Given the description of an element on the screen output the (x, y) to click on. 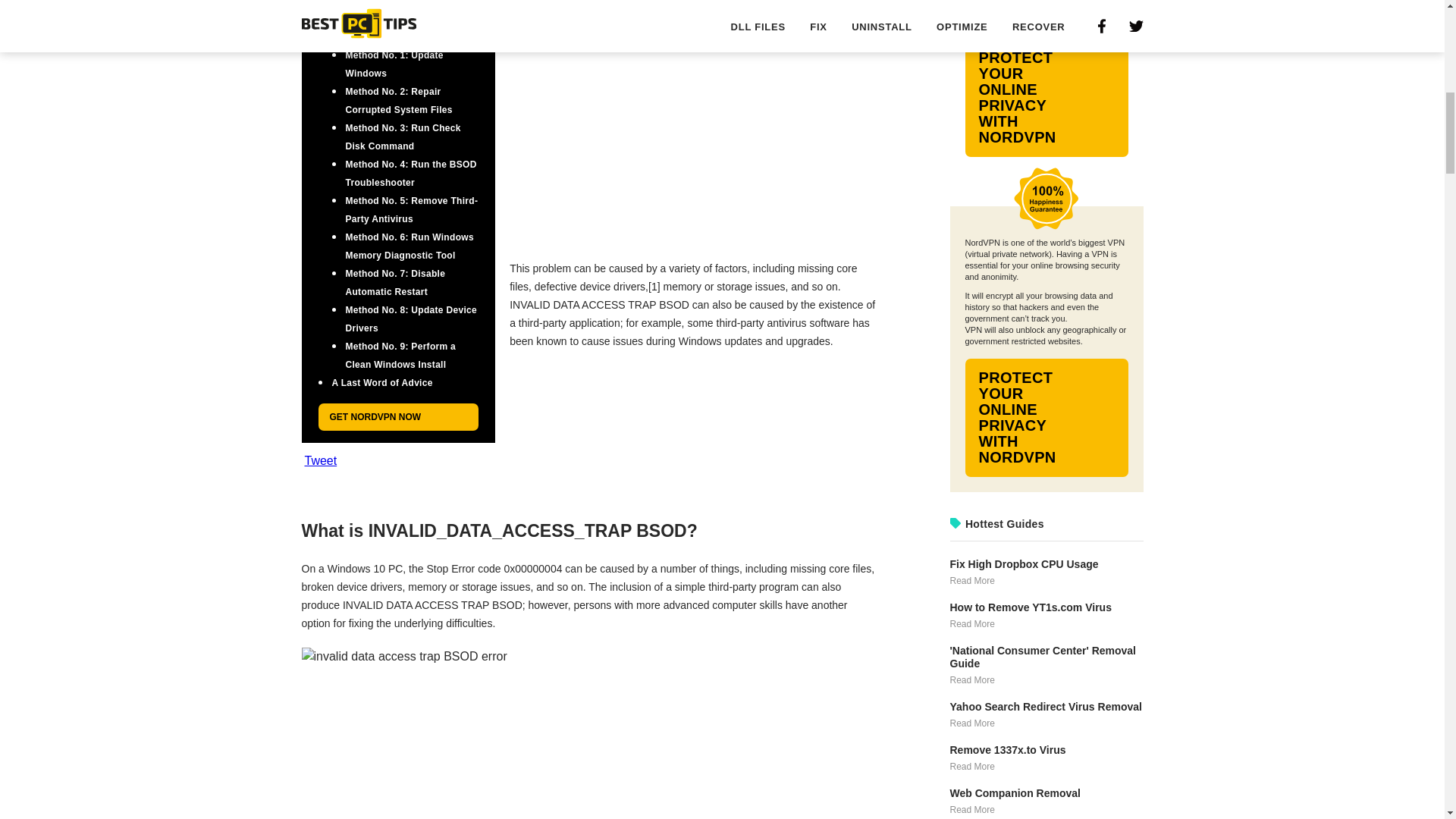
Tweet (320, 461)
Method No. 2: Repair Corrupted System Files (399, 100)
Group (1045, 198)
Method No. 5: Remove Third-Party Antivirus (412, 209)
Method No. 7: Disable Automatic Restart (395, 282)
Method No. 1: Update Windows (395, 63)
Method No. 8: Update Device Drivers (411, 318)
Method No. 4: Run the BSOD Troubleshooter (411, 173)
Method No. 9: Perform a Clean Windows Install (401, 355)
GET NORDVPN NOW (398, 416)
A Last Word of Advice (381, 382)
Method No. 3: Run Check Disk Command (403, 136)
Method No. 6: Run Windows Memory Diagnostic Tool (410, 246)
